Given the description of an element on the screen output the (x, y) to click on. 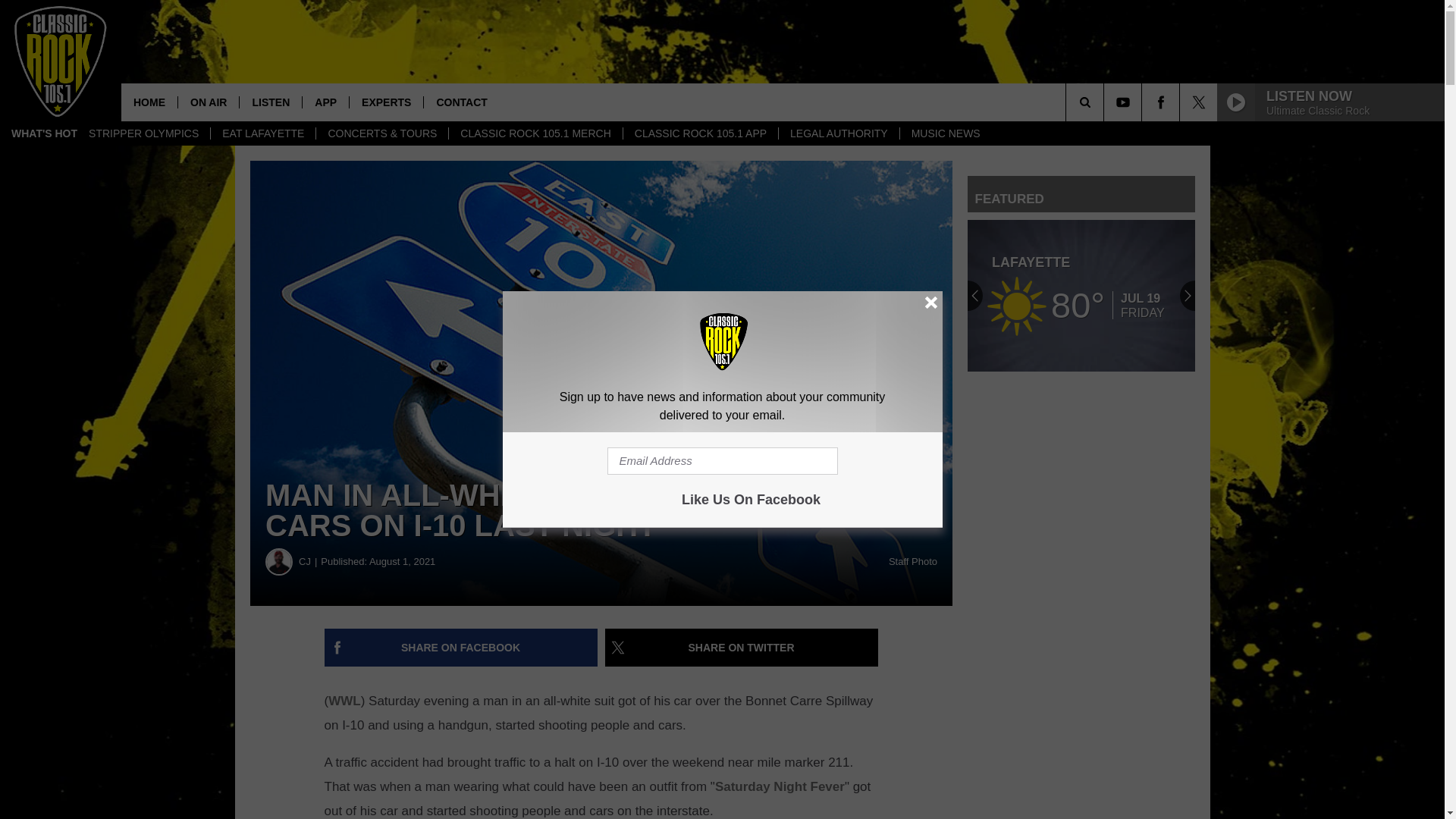
STRIPPER OLYMPICS (143, 133)
Share on Twitter (741, 647)
ON AIR (207, 102)
HOME (148, 102)
LEGAL AUTHORITY (838, 133)
CLASSIC ROCK 105.1 APP (700, 133)
Email Address (722, 461)
SEARCH (1106, 102)
Share on Facebook (460, 647)
APP (325, 102)
SEARCH (1106, 102)
EXPERTS (386, 102)
CLASSIC ROCK 105.1 MERCH (534, 133)
MUSIC NEWS (945, 133)
CONTACT (461, 102)
